Given the description of an element on the screen output the (x, y) to click on. 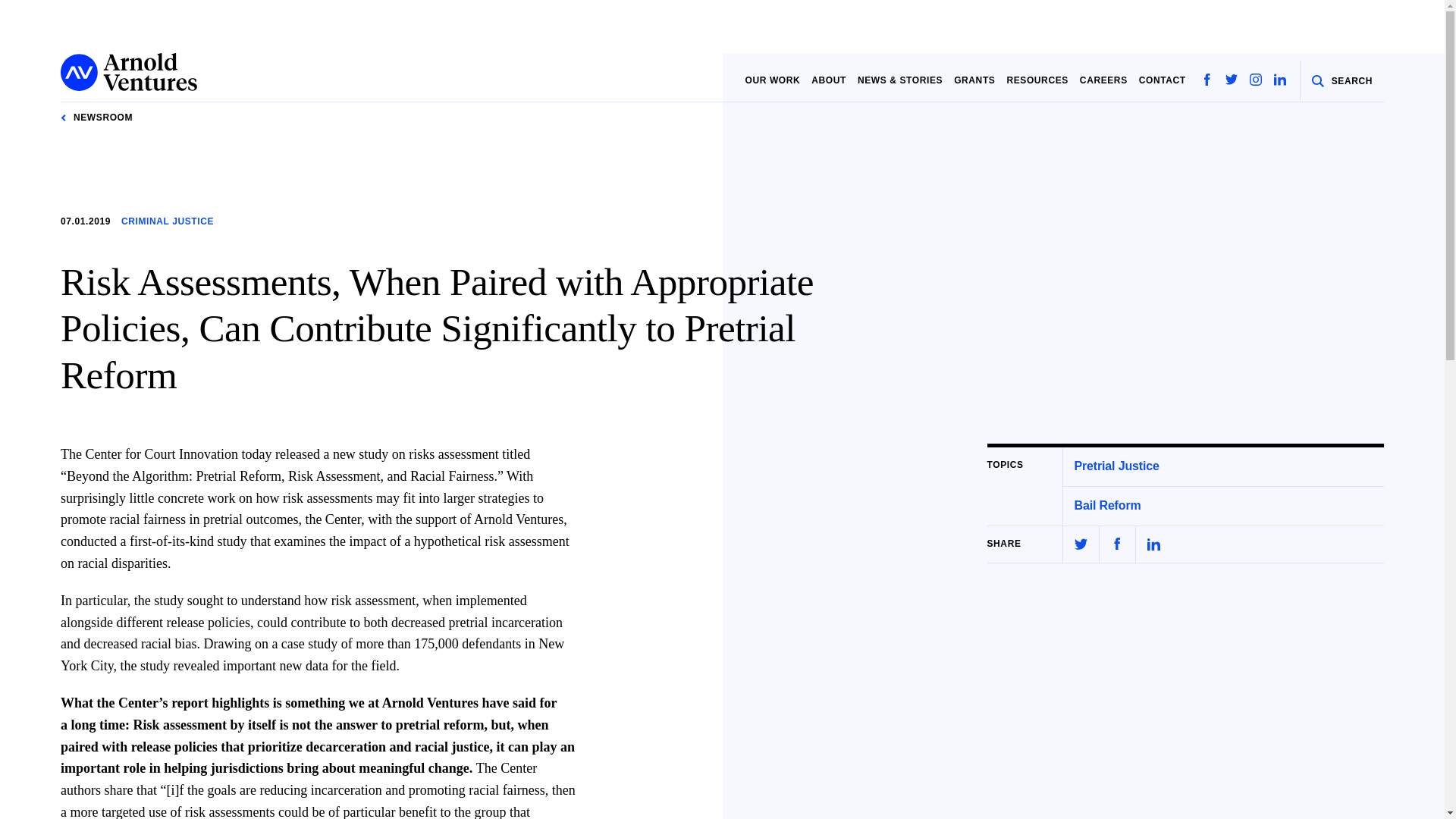
Share on Facebook (1117, 543)
Follow us on LinkedIn (1276, 80)
OUR WORK (771, 80)
Follow us on Twitter (1231, 80)
Pretrial Justice (1116, 465)
GRANTS (973, 80)
Share on LinkedIn (1153, 544)
SEARCH (1342, 81)
CONTACT (1162, 80)
CRIMINAL JUSTICE (167, 221)
Follow us on Instagram (1255, 80)
RESOURCES (1036, 80)
NEWSROOM (96, 117)
CAREERS (1103, 80)
Share on Twitter (1080, 544)
